Given the description of an element on the screen output the (x, y) to click on. 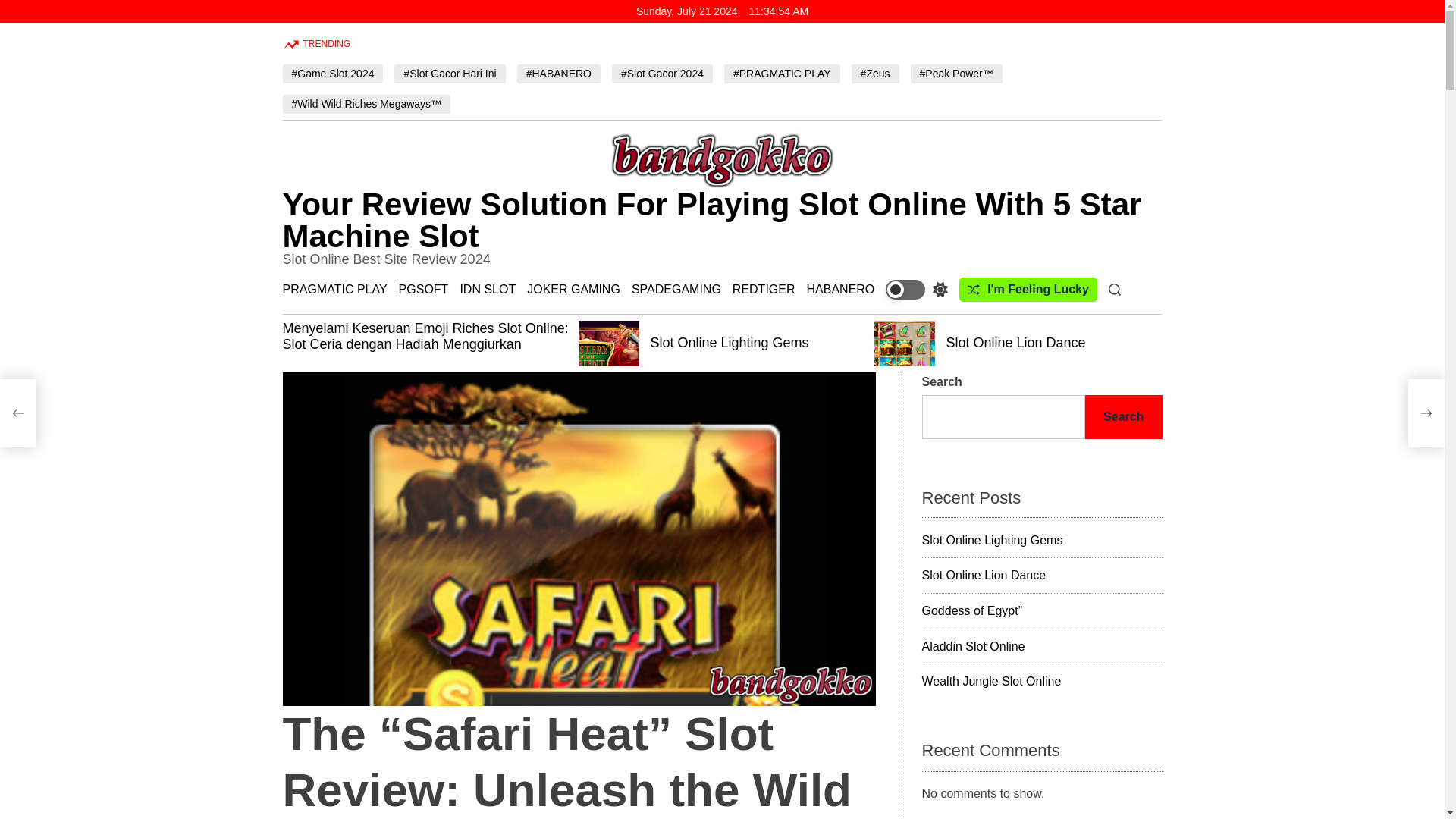
I'm Feeling Lucky (1028, 289)
HABANERO (840, 288)
Slot Online Lion Dance (1016, 342)
Search (1114, 289)
Slot Online Lighting Gems (729, 342)
PRAGMATIC PLAY (334, 288)
PGSOFT (423, 288)
IDN SLOT (487, 288)
REDTIGER (763, 288)
Switch color mode (916, 289)
JOKER GAMING (573, 288)
SPADEGAMING (675, 288)
